Given the description of an element on the screen output the (x, y) to click on. 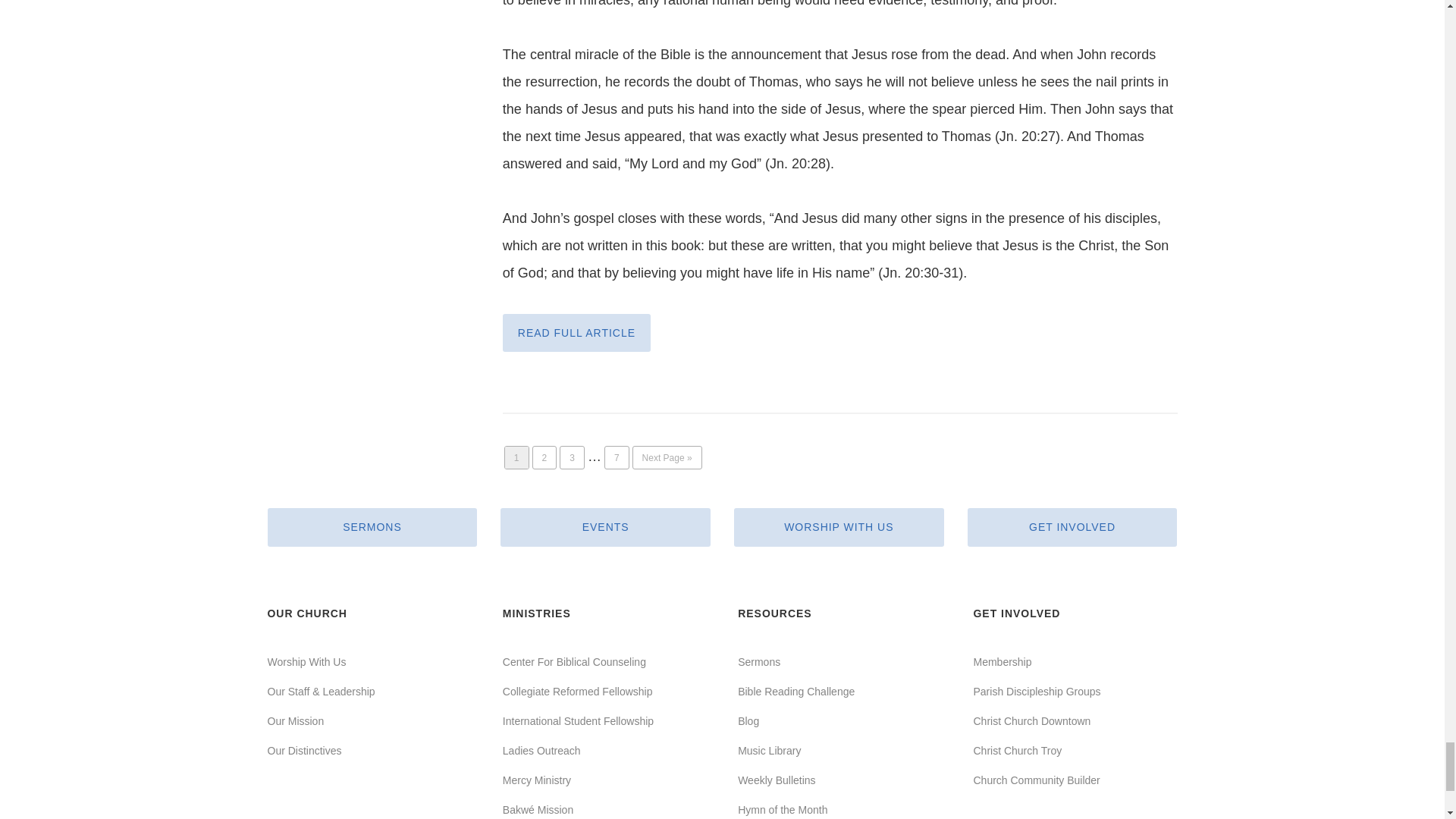
SERMONS (371, 526)
EVENTS (605, 526)
Center For Biblical Counseling (574, 662)
Worship With Us (306, 662)
7 (616, 457)
2 (544, 457)
READ FULL ARTICLE (576, 332)
GET INVOLVED (1072, 526)
1 (516, 457)
Our Distinctives (303, 750)
